Given the description of an element on the screen output the (x, y) to click on. 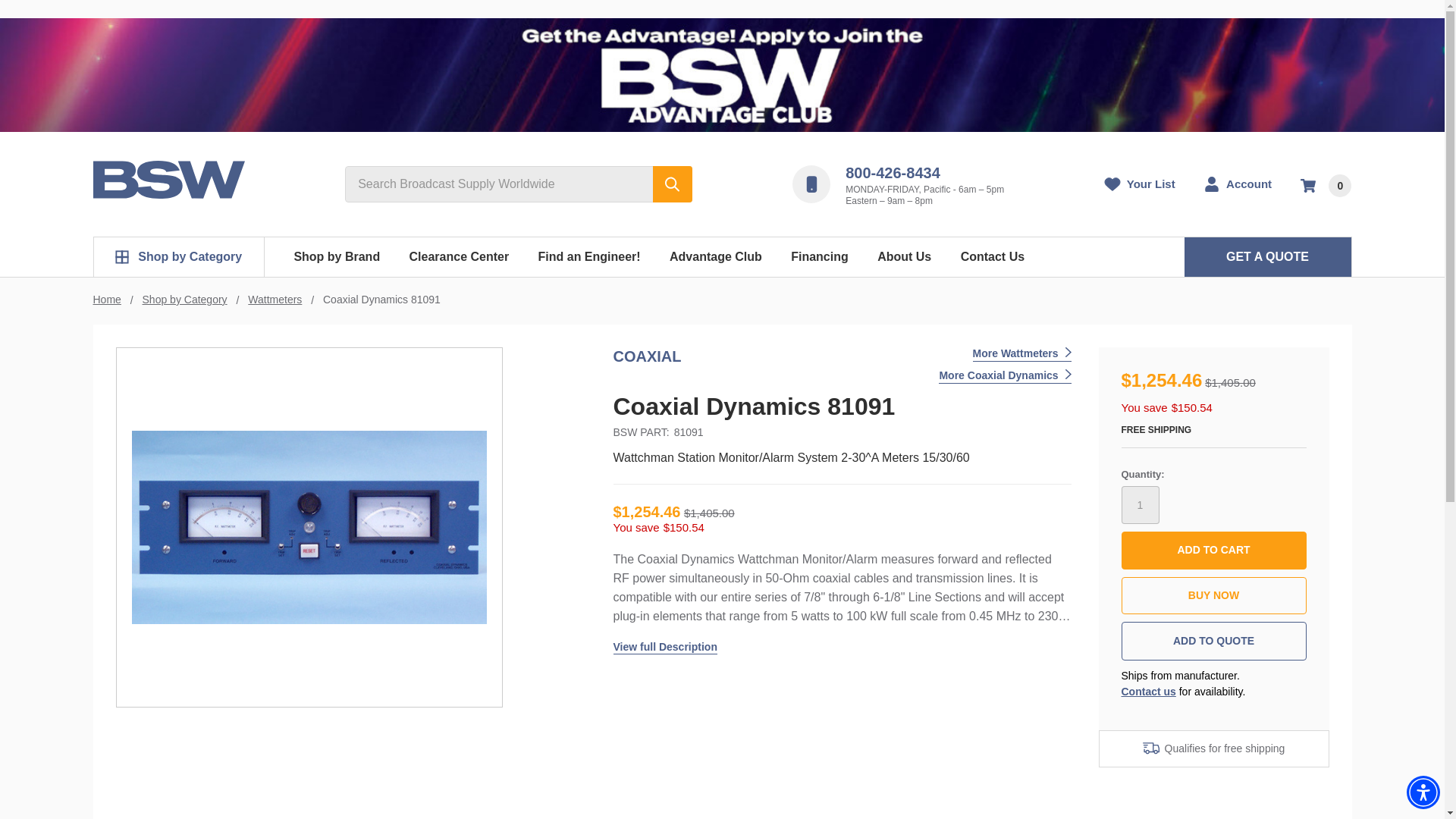
COAXIAL (646, 356)
Advantage Club (715, 256)
Your List (1139, 183)
Wattmeters (274, 299)
More Wattmeters (1021, 354)
About Us (903, 256)
800-426-8434 (892, 172)
Accessibility Menu (1422, 792)
1 (1139, 505)
